Given the description of an element on the screen output the (x, y) to click on. 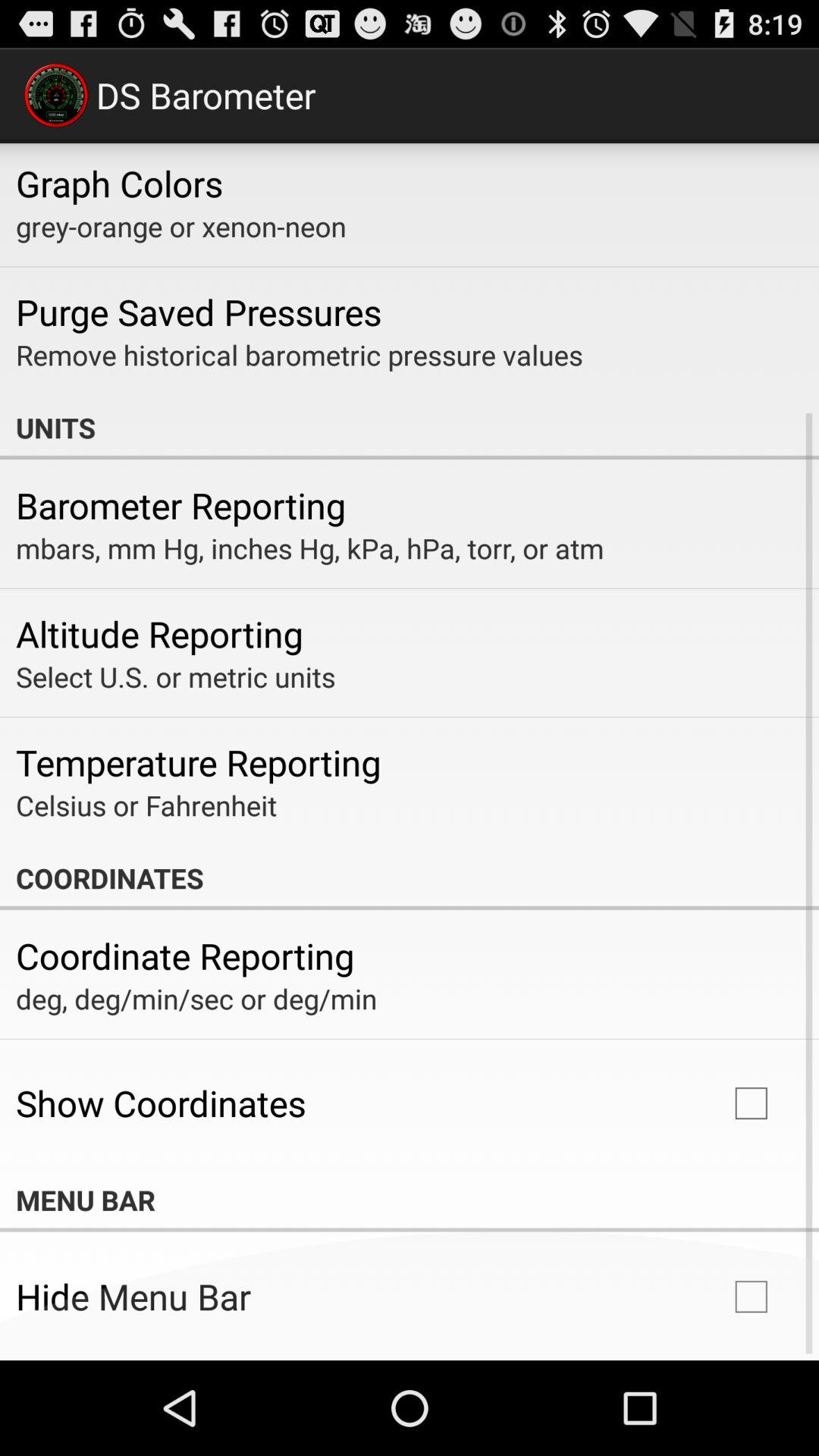
flip to the grey orange or app (180, 226)
